Given the description of an element on the screen output the (x, y) to click on. 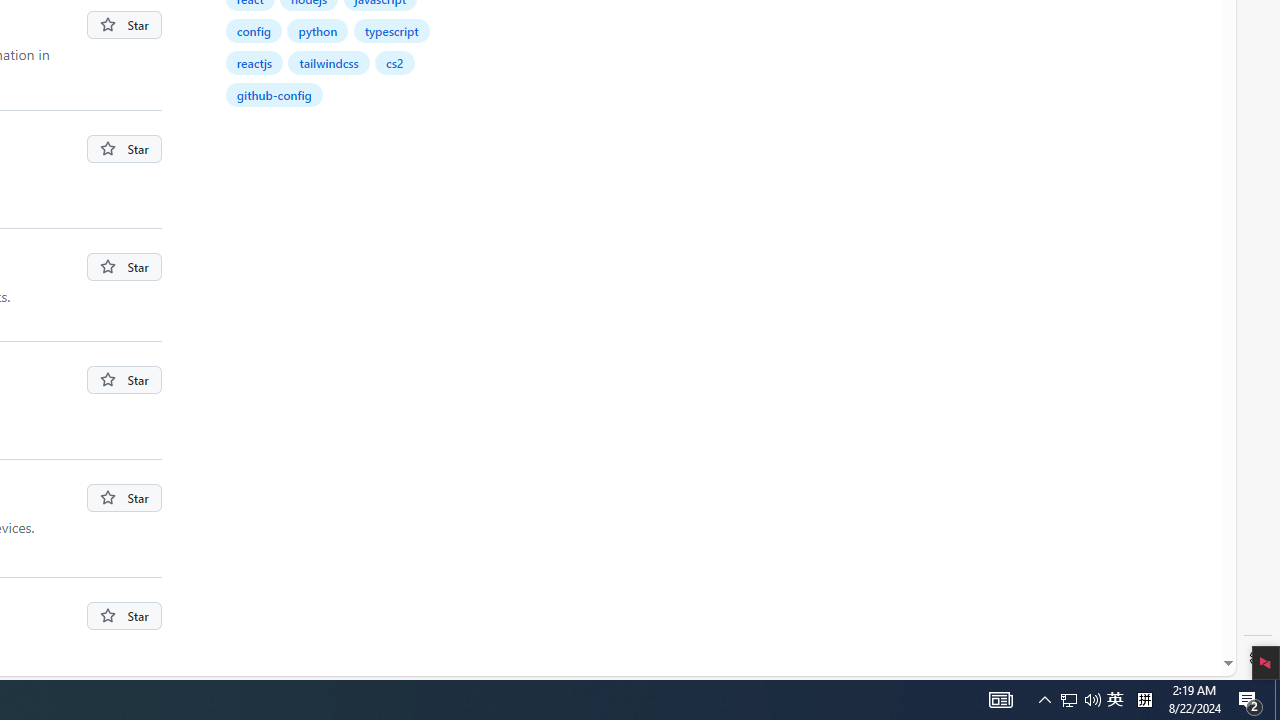
cs2 (396, 62)
